Given the description of an element on the screen output the (x, y) to click on. 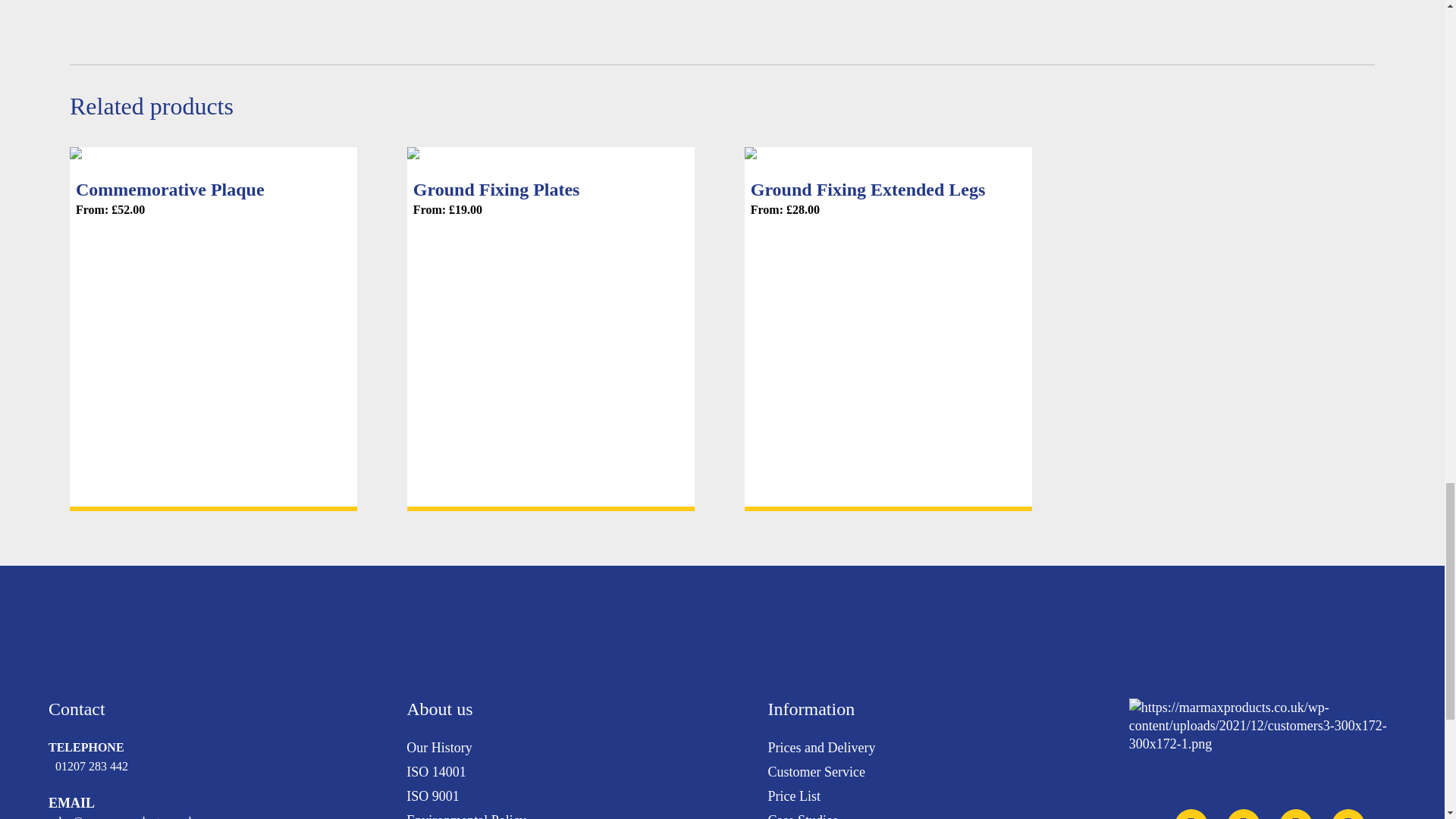
linkedin (1296, 814)
facebook (1348, 814)
twitter (1191, 814)
Youtube (1243, 814)
